Given the description of an element on the screen output the (x, y) to click on. 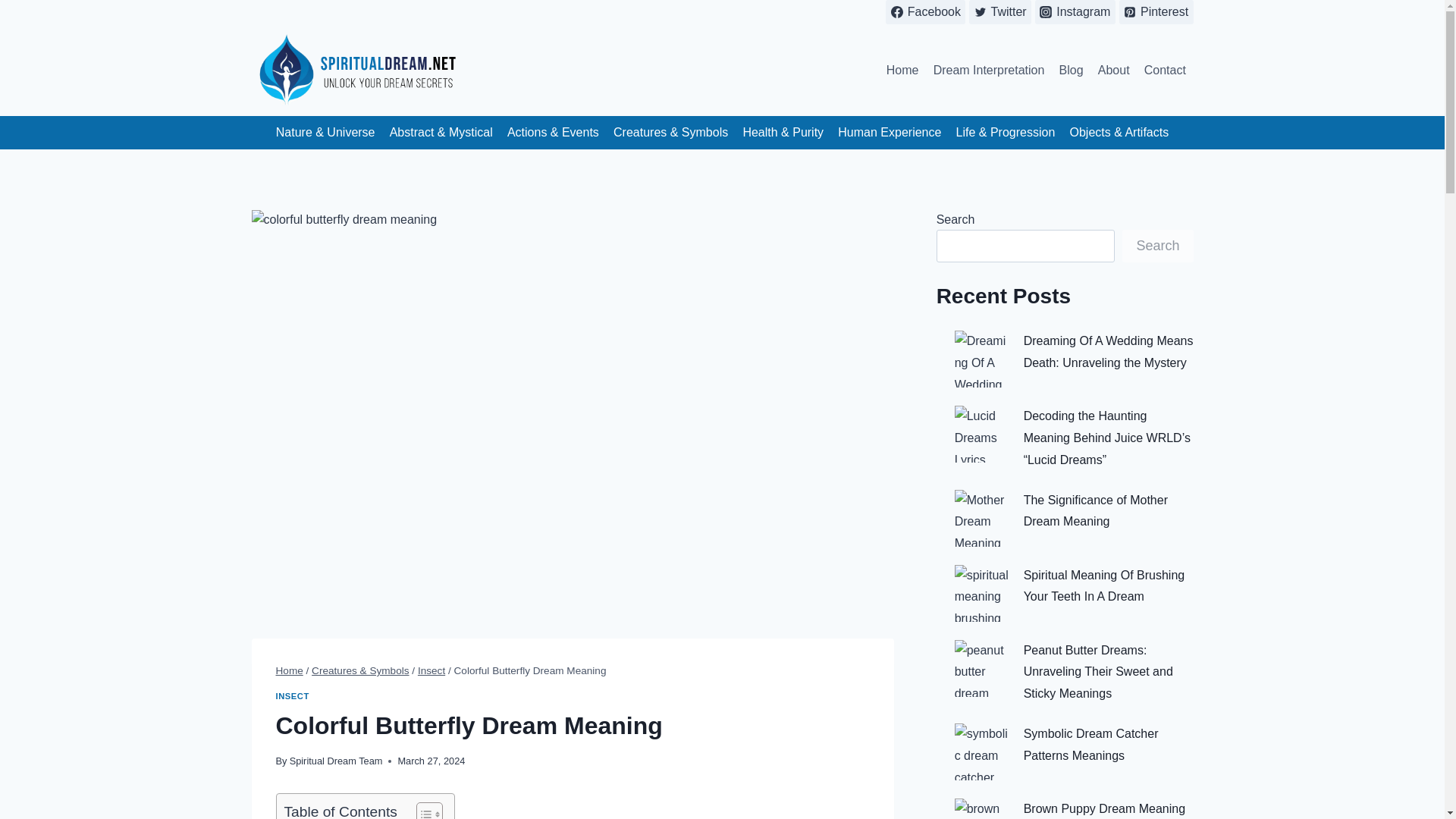
Human Experience (890, 132)
Dream Interpretation (988, 69)
Spiritual Dream Team (335, 760)
Insect (431, 670)
Facebook (925, 12)
About (1113, 69)
Twitter (999, 12)
Home (902, 69)
Blog (1070, 69)
Pinterest (1156, 12)
Home (289, 670)
INSECT (292, 696)
Contact (1164, 69)
Instagram (1075, 12)
